Given the description of an element on the screen output the (x, y) to click on. 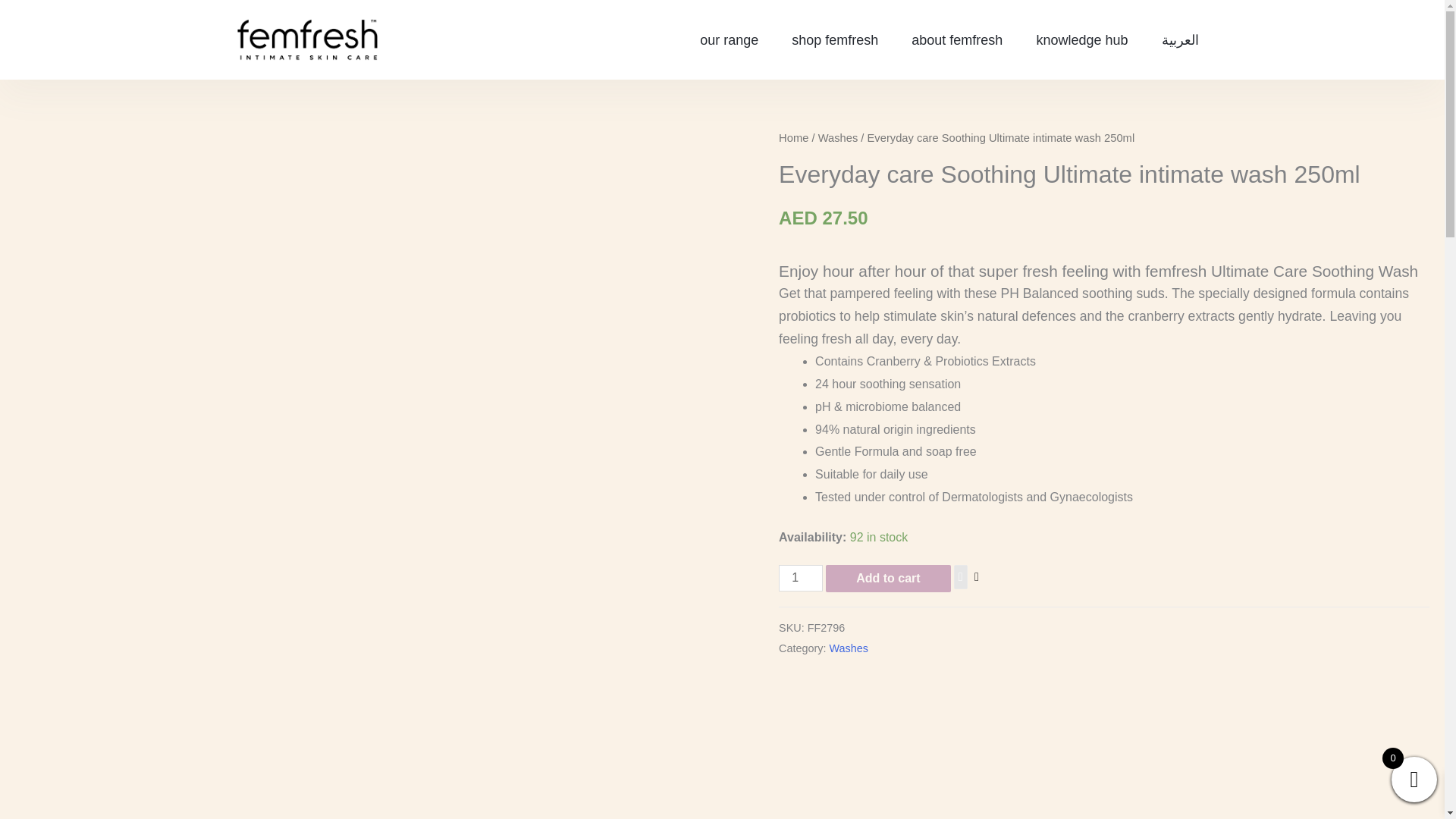
our range (728, 39)
about femfresh (956, 39)
knowledge hub (1081, 39)
1 (800, 578)
shop femfresh (834, 39)
